Given the description of an element on the screen output the (x, y) to click on. 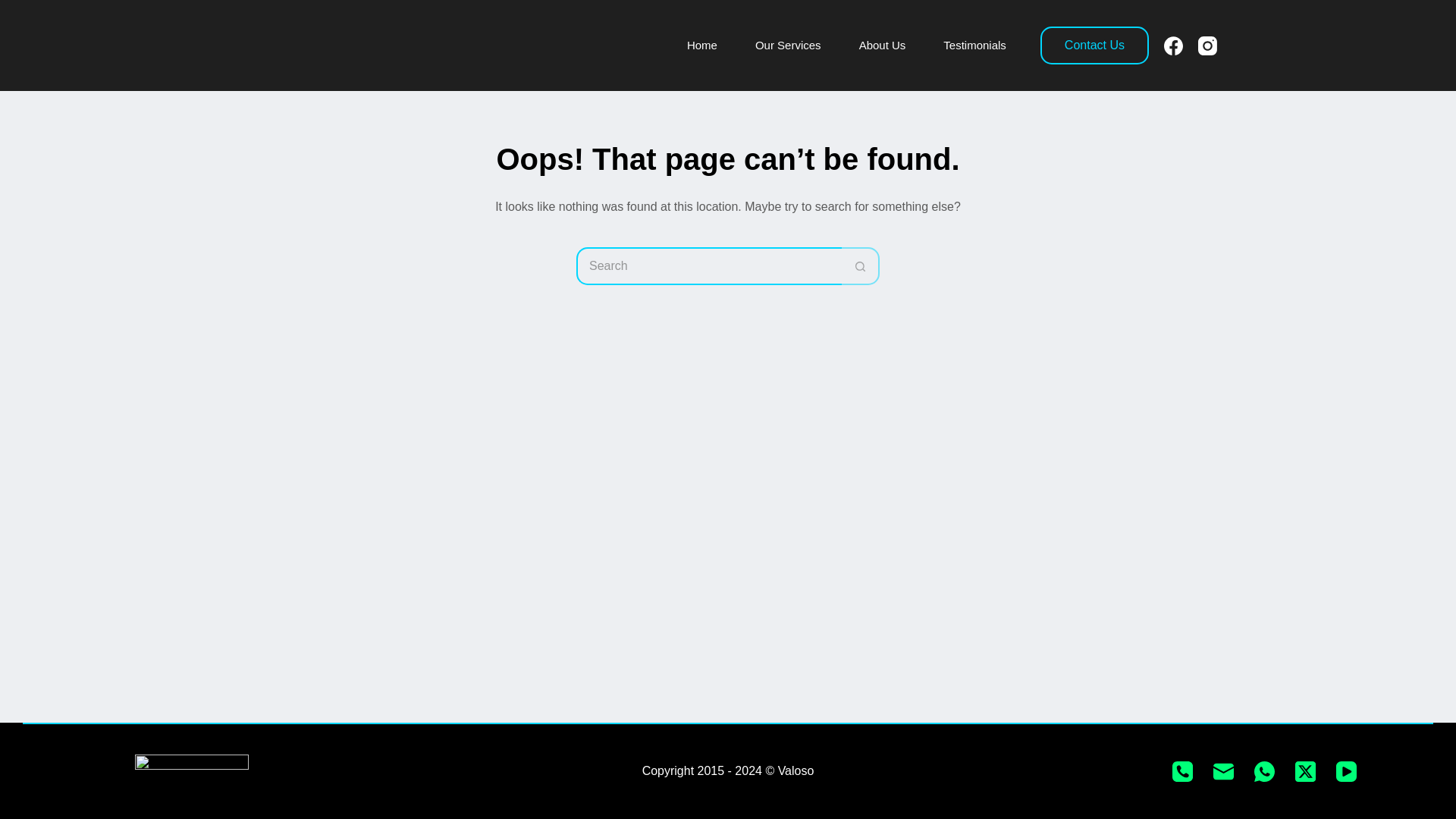
Search for... (708, 266)
Home (702, 45)
About Us (882, 45)
Our Services (788, 45)
Contact Us (1094, 45)
Skip to content (15, 7)
Testimonials (974, 45)
